Given the description of an element on the screen output the (x, y) to click on. 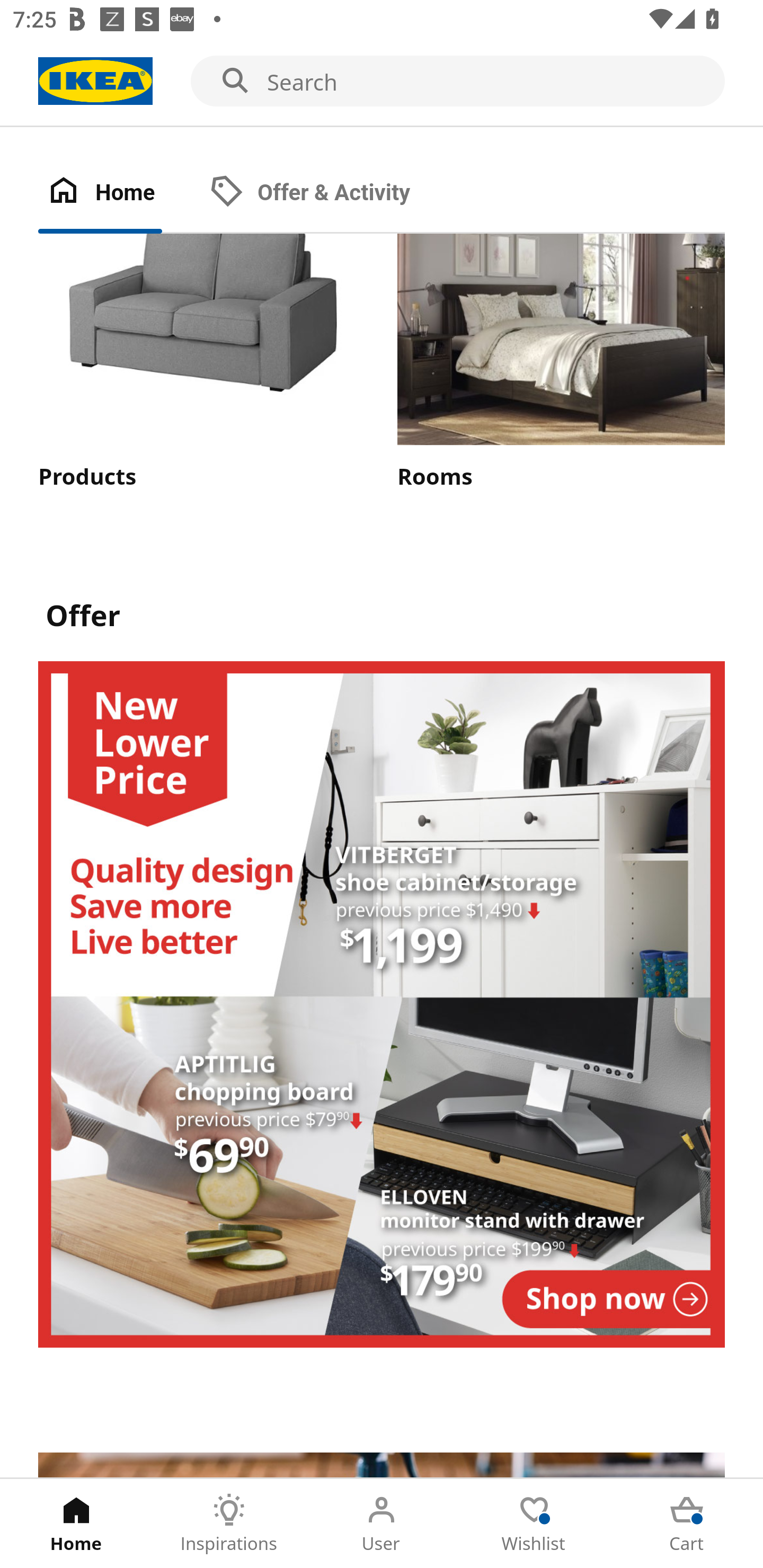
Search (381, 81)
Home
Tab 1 of 2 (118, 192)
Offer & Activity
Tab 2 of 2 (327, 192)
Products (201, 362)
Rooms (560, 362)
Home
Tab 1 of 5 (76, 1522)
Inspirations
Tab 2 of 5 (228, 1522)
User
Tab 3 of 5 (381, 1522)
Wishlist
Tab 4 of 5 (533, 1522)
Cart
Tab 5 of 5 (686, 1522)
